Given the description of an element on the screen output the (x, y) to click on. 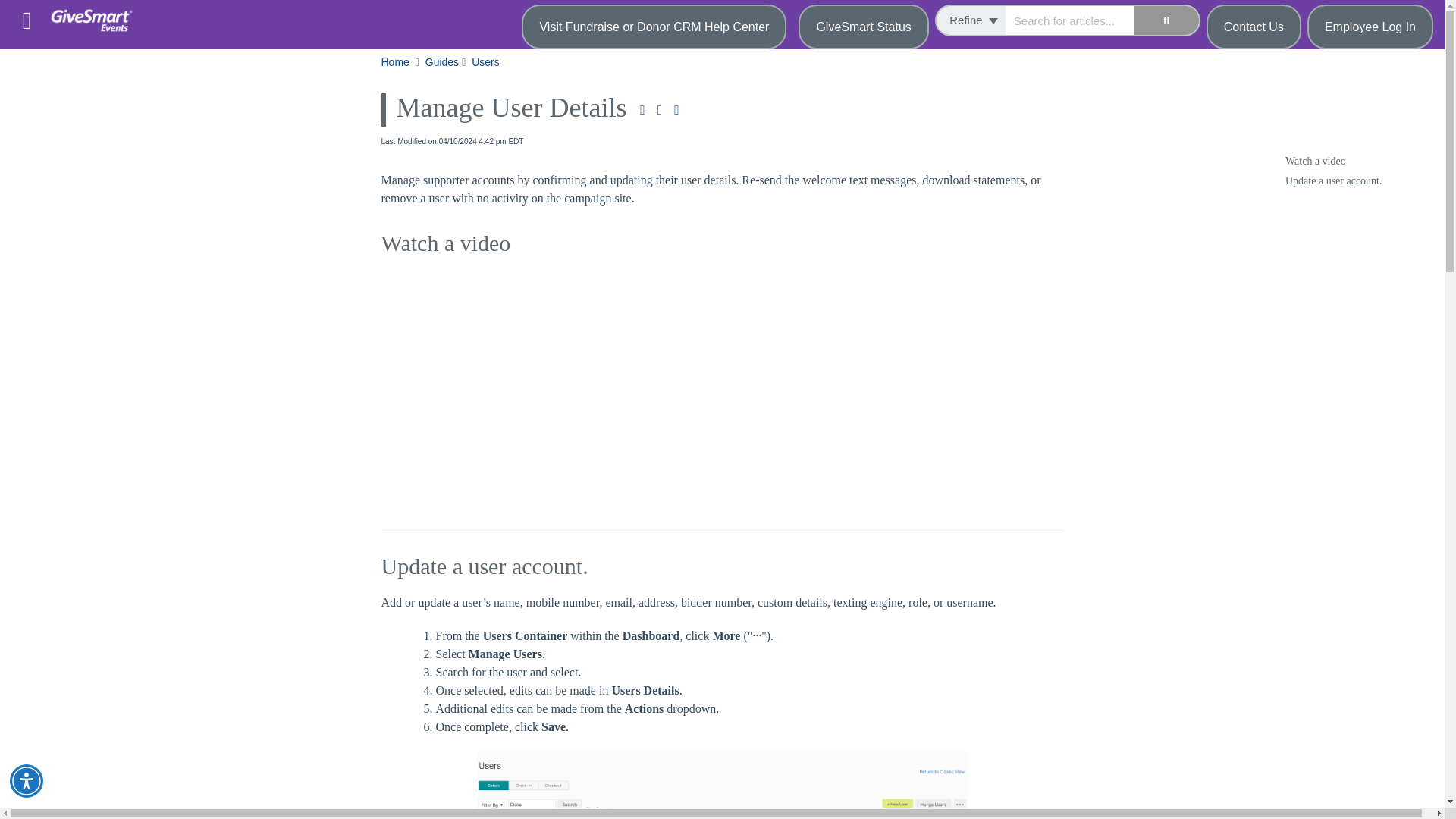
Search (1070, 20)
Guides (443, 62)
Users (486, 62)
Download PDF (641, 109)
GiveSmart Status (862, 26)
Contact Us (1254, 26)
Employee Log In (1369, 26)
Events Help Center (96, 13)
Refine search (970, 20)
Visit Fundraise or Donor CRM Help Center (653, 26)
Search (1166, 20)
Refine (970, 20)
Accessibility Menu (26, 780)
